Given the description of an element on the screen output the (x, y) to click on. 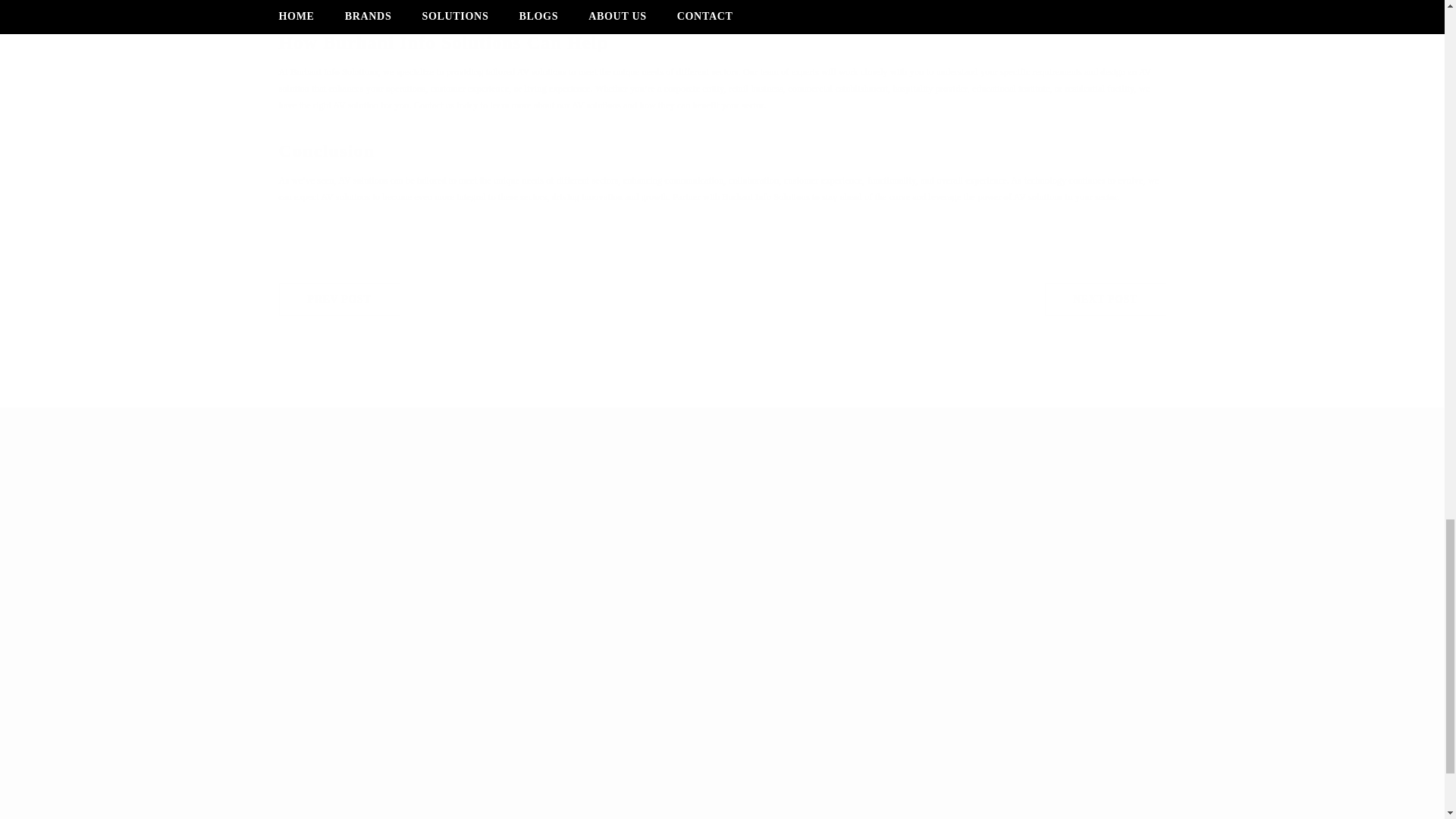
PREV POST (339, 299)
Pinterest (449, 599)
NEXT POST (373, 593)
YouTube (1105, 299)
Facebook (413, 593)
Instagram (293, 593)
SUBMIT (332, 593)
